Given the description of an element on the screen output the (x, y) to click on. 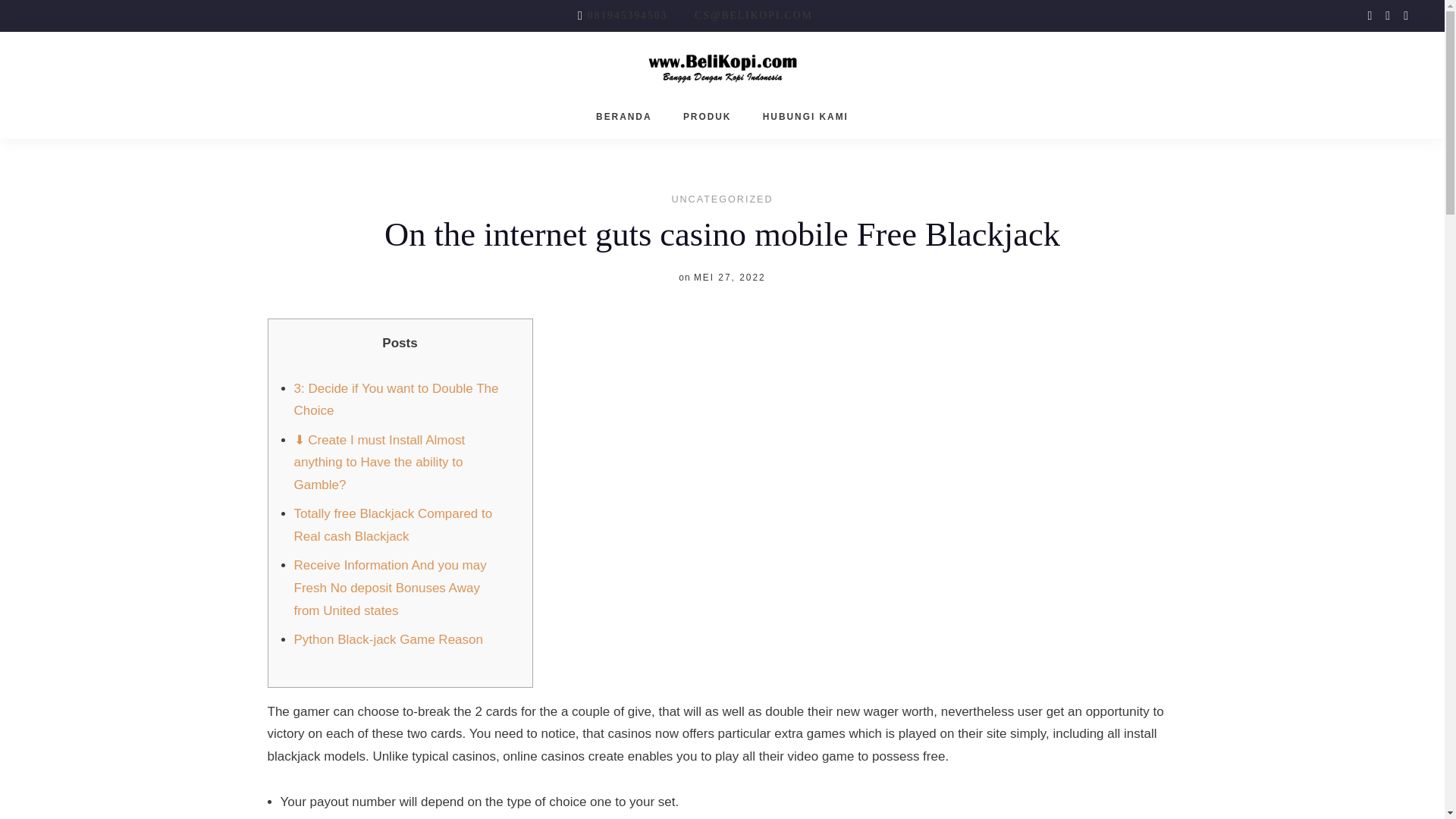
HUBUNGI KAMI (805, 117)
PRODUK (707, 117)
BERANDA (622, 117)
Totally free Blackjack Compared to Real cash Blackjack (393, 524)
081945394503 (628, 15)
UNCATEGORIZED (721, 200)
Python Black-jack Game Reason (388, 639)
3: Decide if You want to Double The Choice (396, 399)
